Given the description of an element on the screen output the (x, y) to click on. 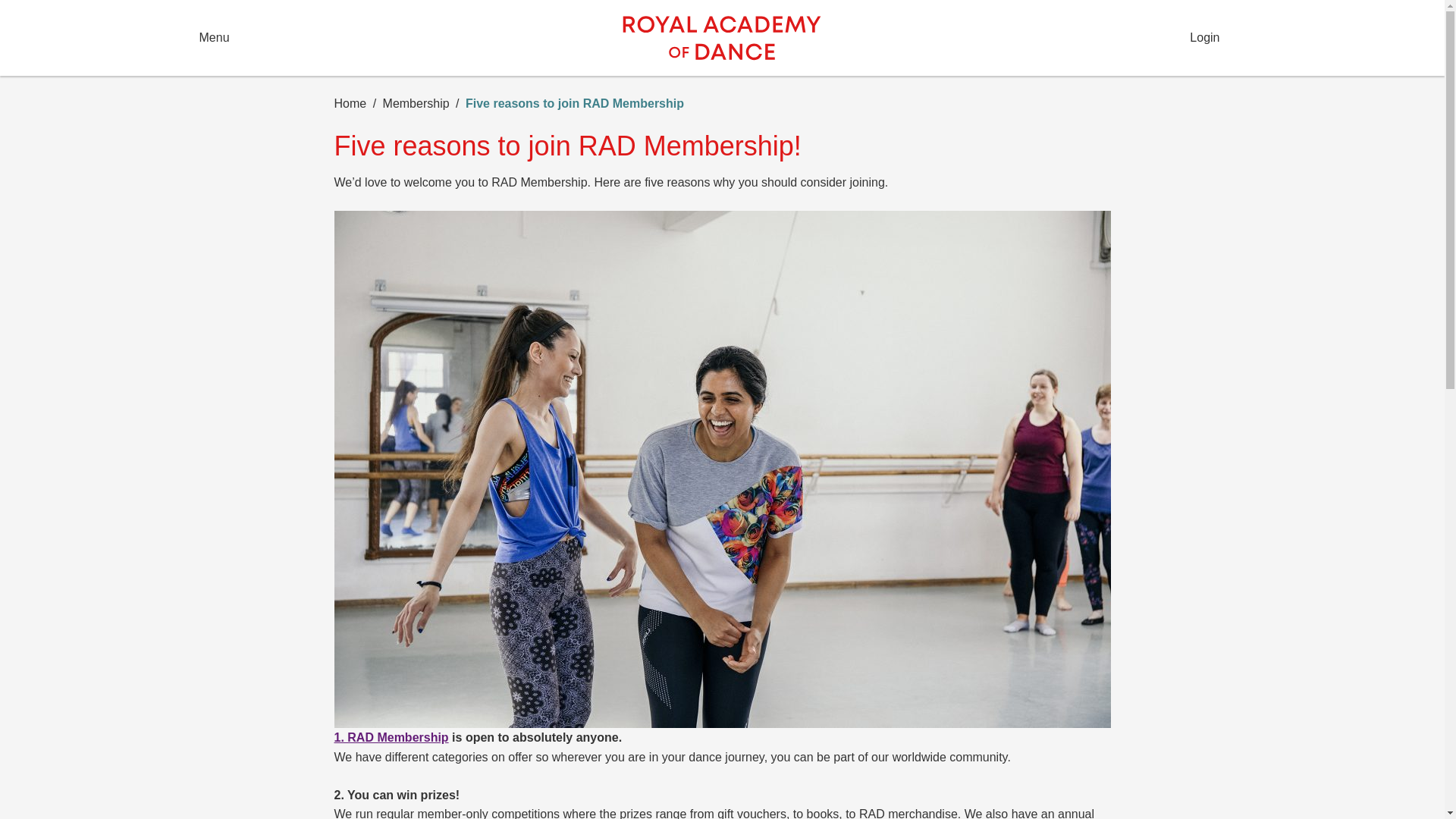
Membership (421, 103)
1. RAD Membership (390, 737)
Five reasons to join RAD Membership (574, 103)
Home (354, 103)
Menu (394, 38)
